Given the description of an element on the screen output the (x, y) to click on. 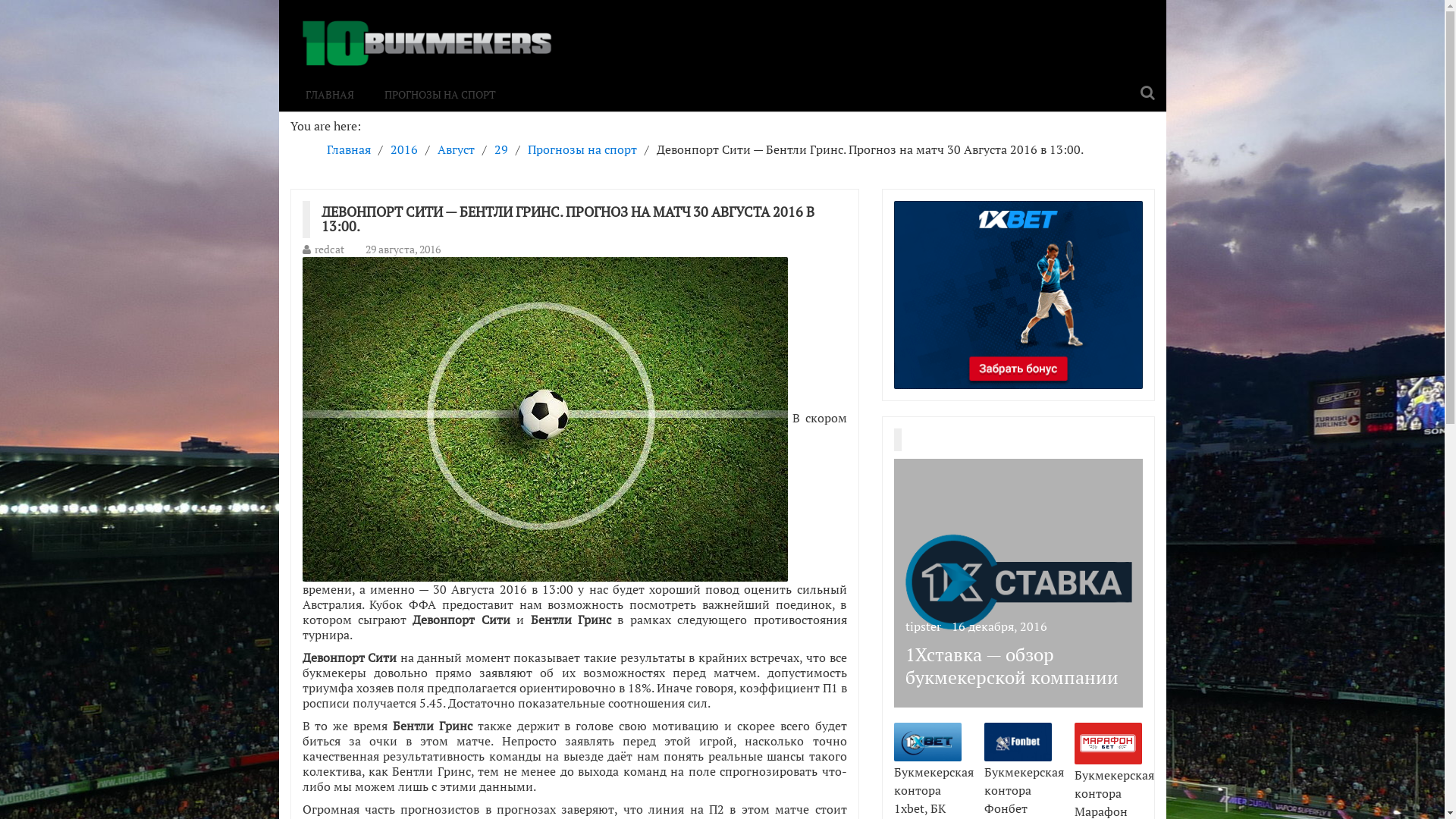
2016 Element type: text (403, 149)
redcat Element type: text (328, 248)
tipster Element type: text (923, 626)
29 Element type: text (501, 149)
